Given the description of an element on the screen output the (x, y) to click on. 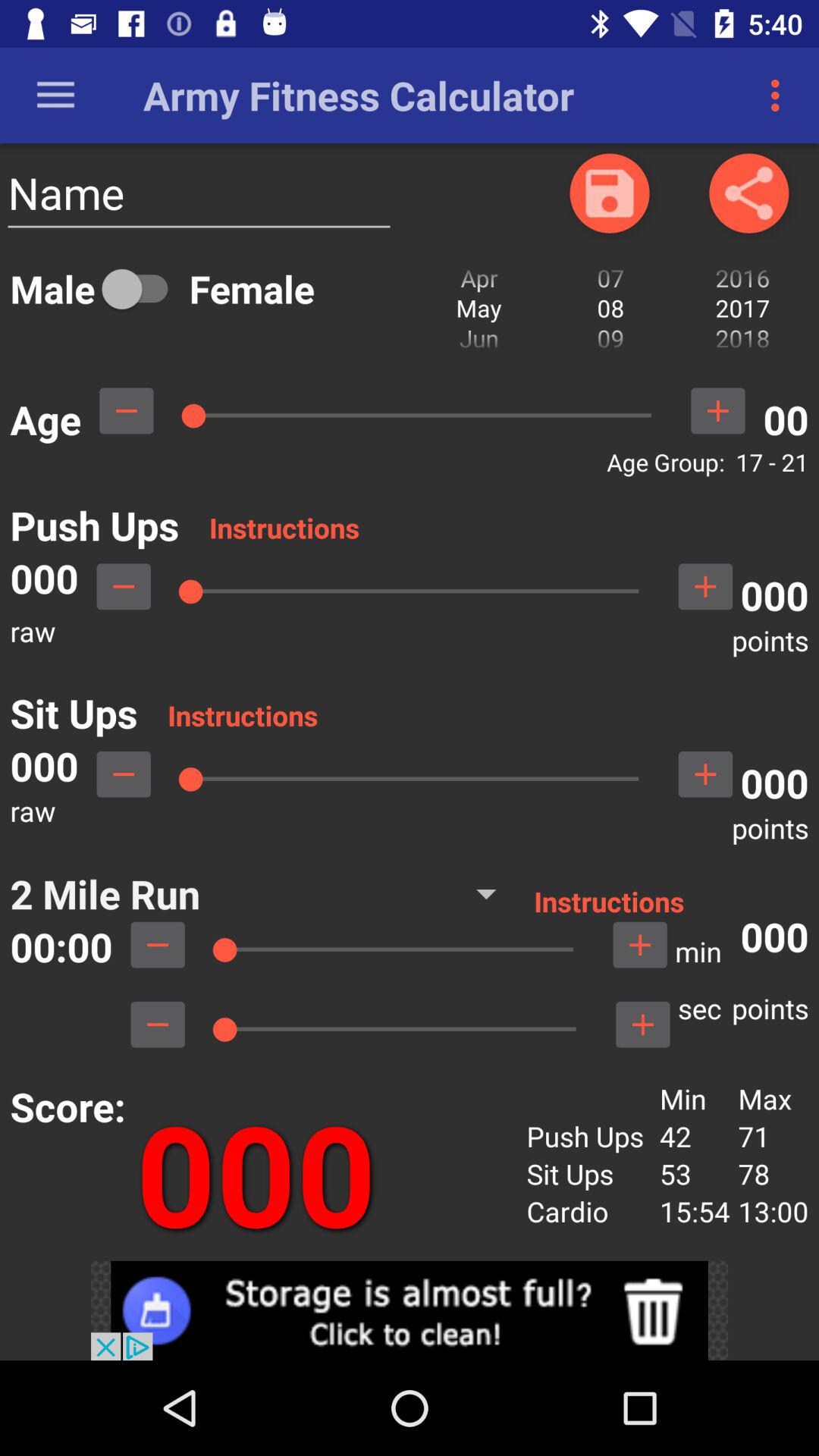
increase number of push ups (705, 586)
